Given the description of an element on the screen output the (x, y) to click on. 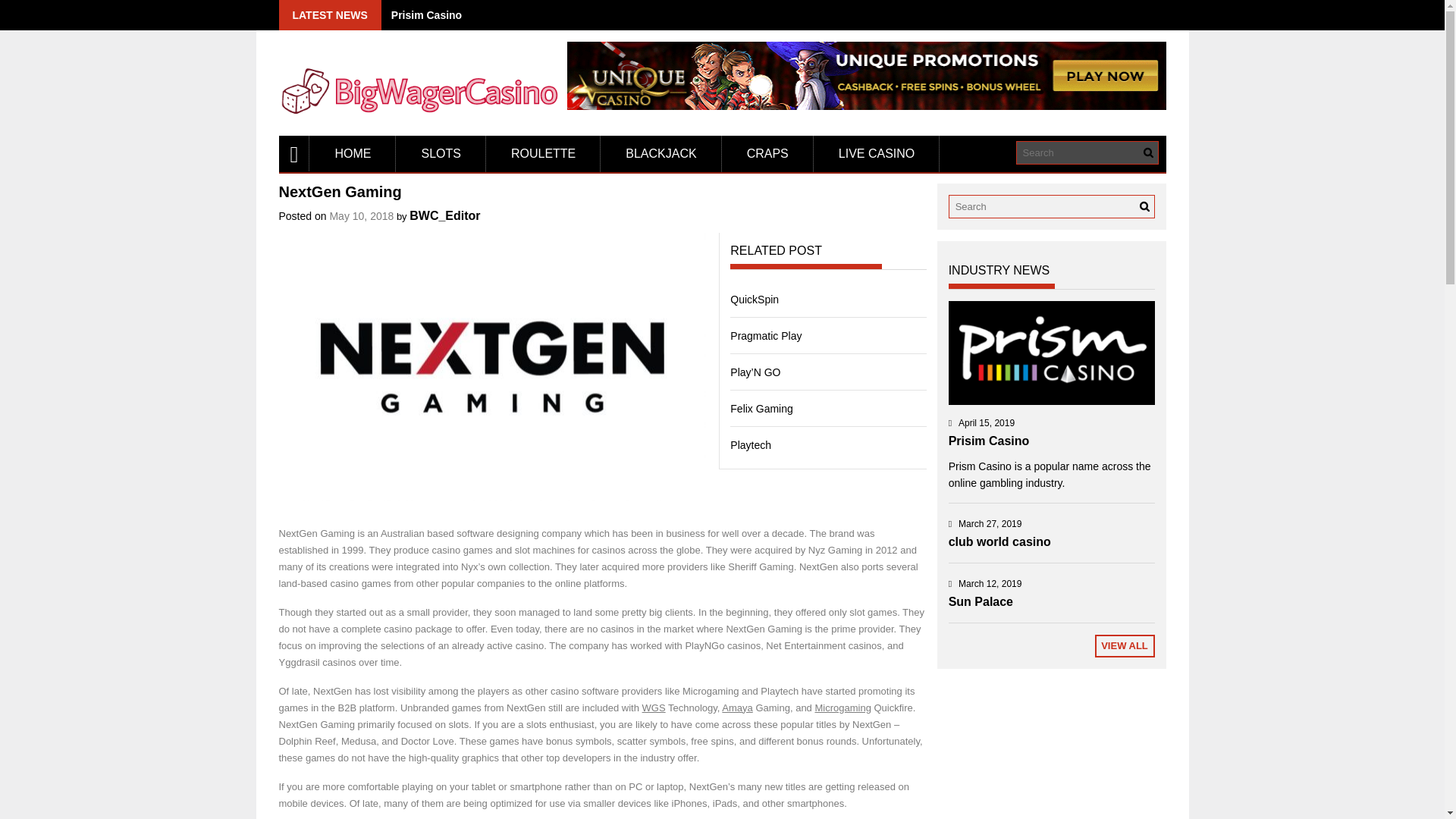
BLACKJACK (659, 153)
May 10, 2018 (361, 215)
QuickSpin (754, 299)
QuickSpin (754, 299)
Prisim Casino (426, 15)
Felix Gaming (761, 408)
Amaya (737, 707)
WGS (653, 707)
Playtech (750, 444)
Prisim Casino (1051, 352)
